Given the description of an element on the screen output the (x, y) to click on. 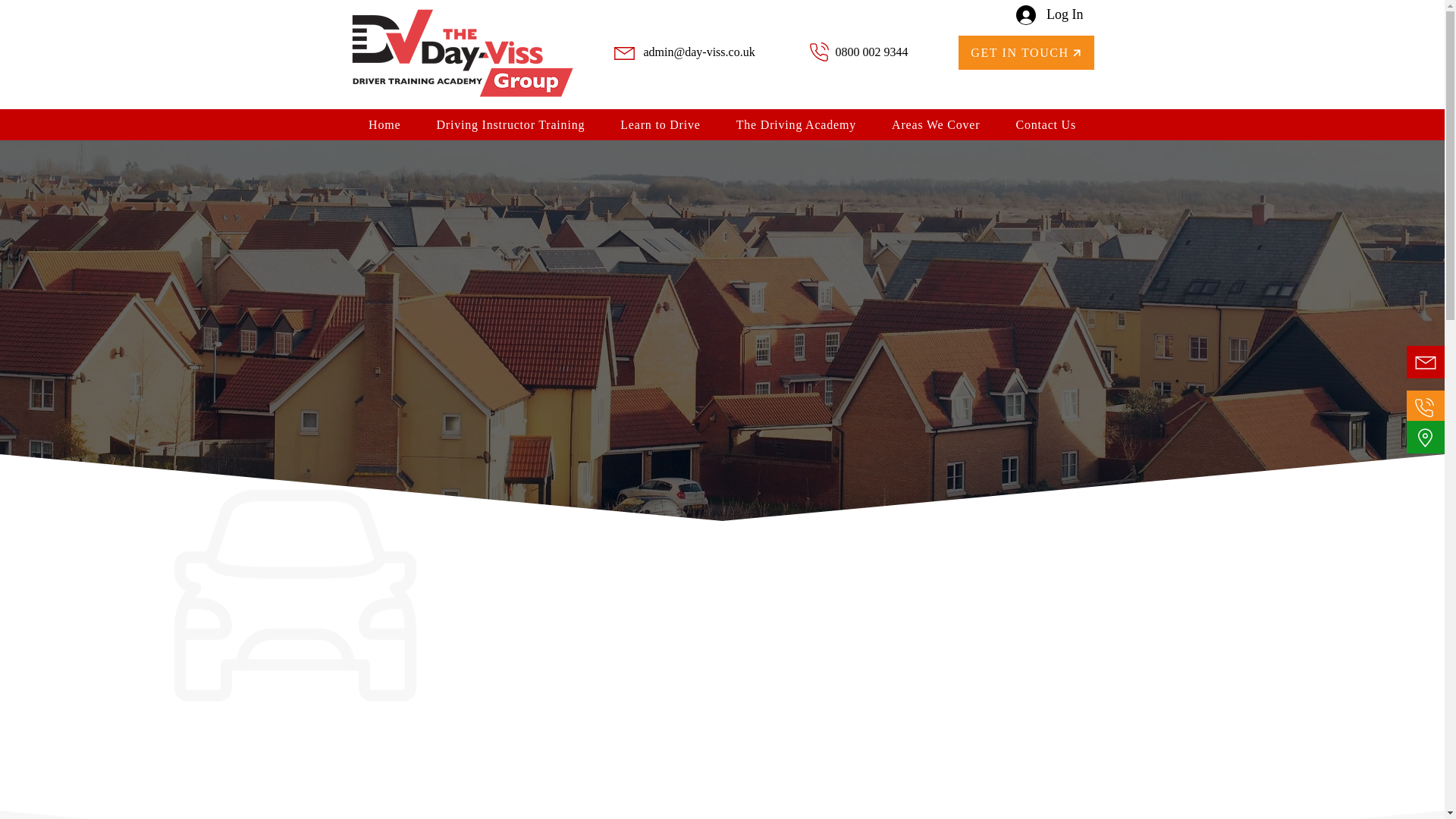
The Driving Academy (795, 124)
Home (384, 124)
GET IN TOUCH (1026, 52)
Contact Us (1045, 124)
Log In (1050, 14)
Driving Instructor Training (510, 124)
Learn to Drive (660, 124)
